Given the description of an element on the screen output the (x, y) to click on. 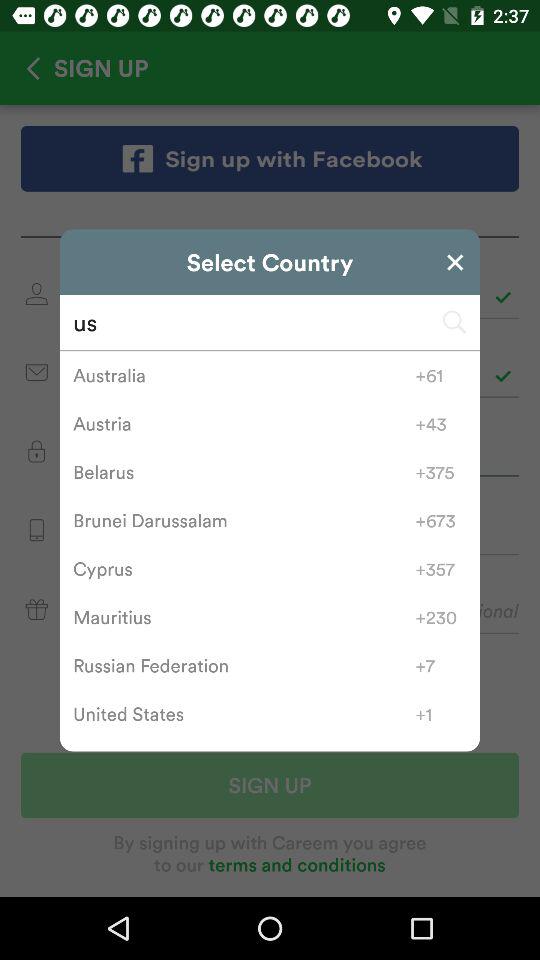
tap icon to the left of the +43 item (244, 423)
